Given the description of an element on the screen output the (x, y) to click on. 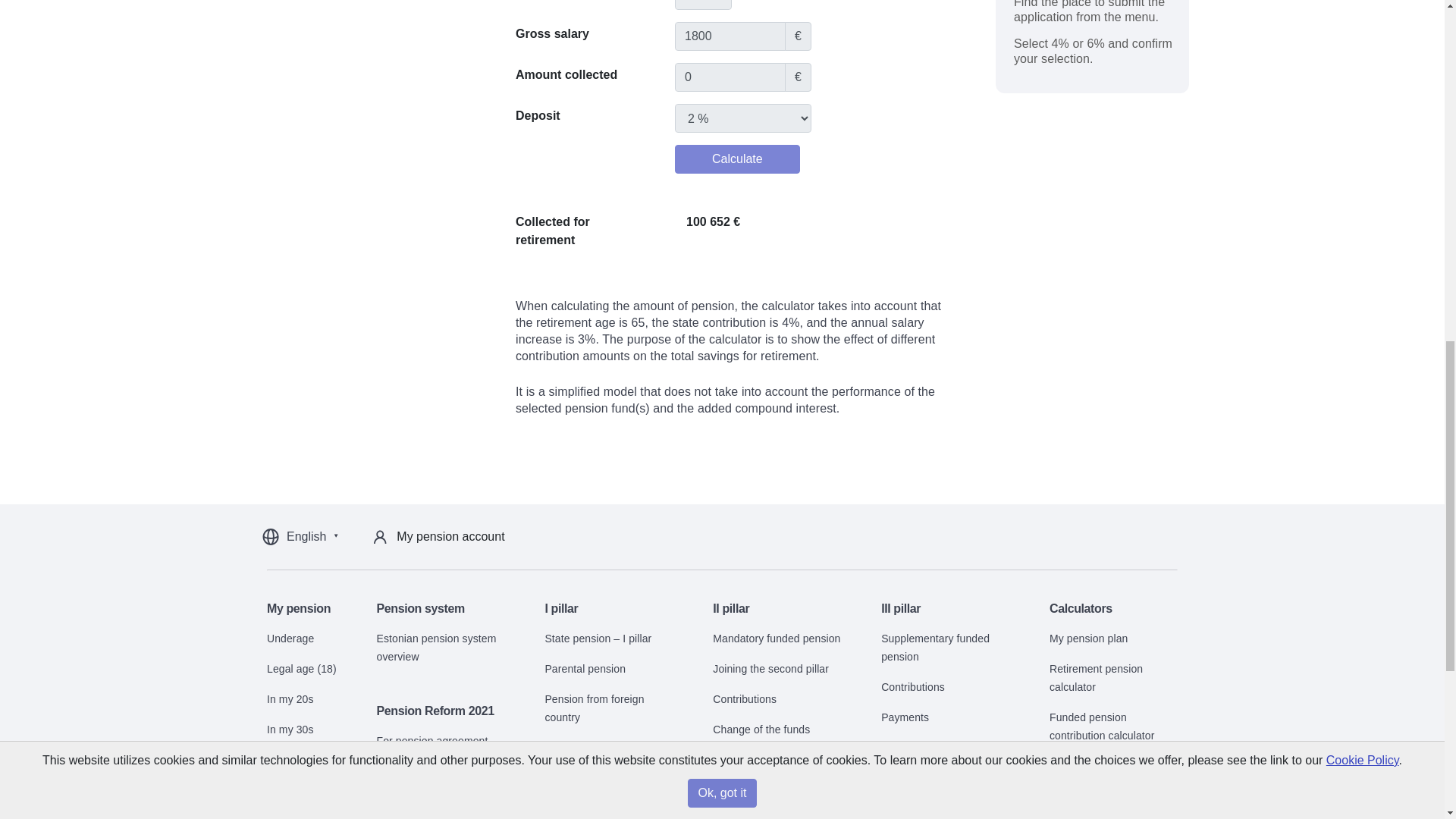
25 (703, 4)
0 (730, 77)
1800 (730, 36)
